Given the description of an element on the screen output the (x, y) to click on. 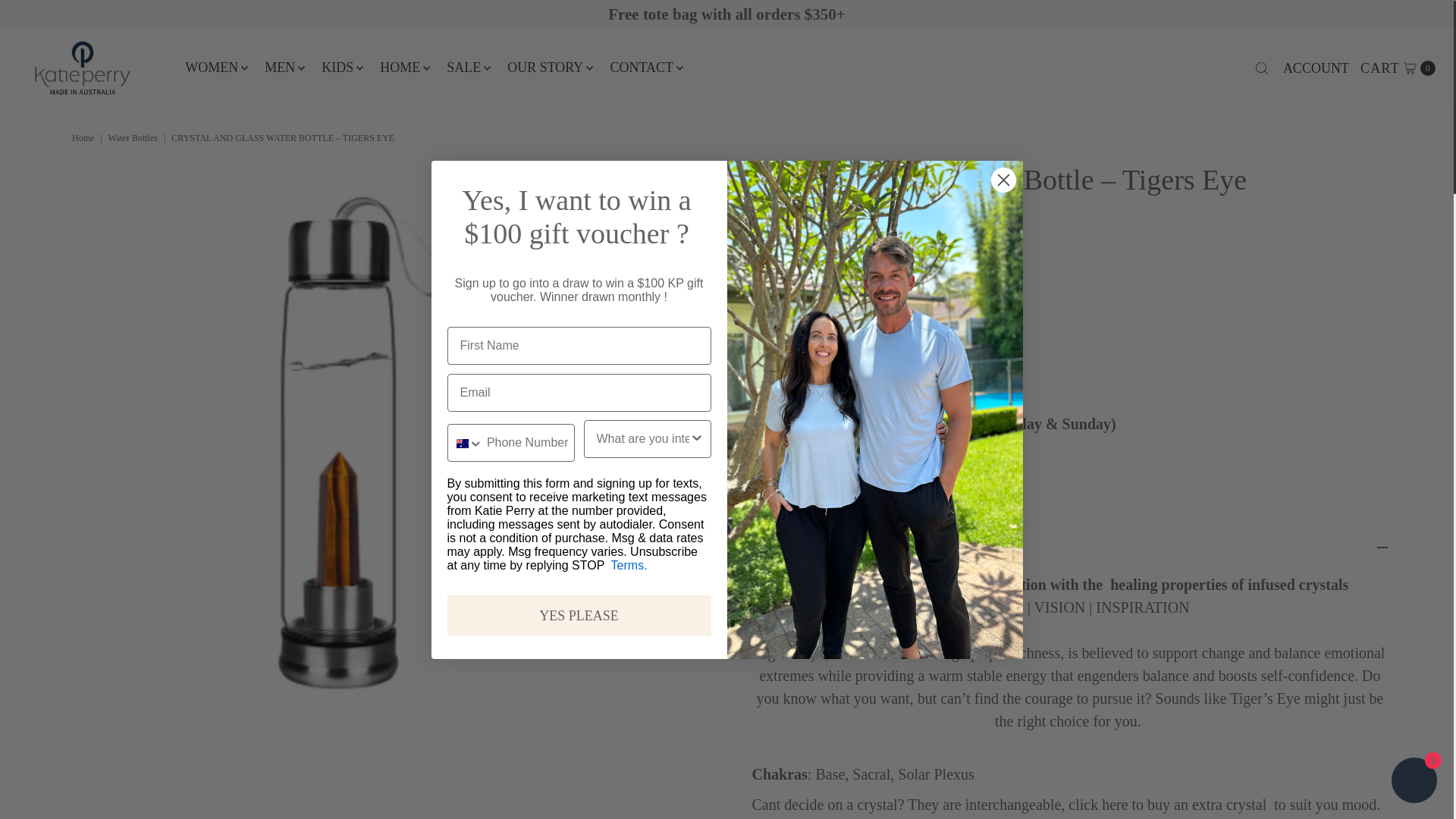
Home (84, 137)
Click to zoom (607, 186)
WOMEN (210, 67)
Close dialog 1 (1003, 180)
MEN (279, 67)
Add to Cart (856, 368)
1 (775, 320)
Water Bottles (134, 137)
